Given the description of an element on the screen output the (x, y) to click on. 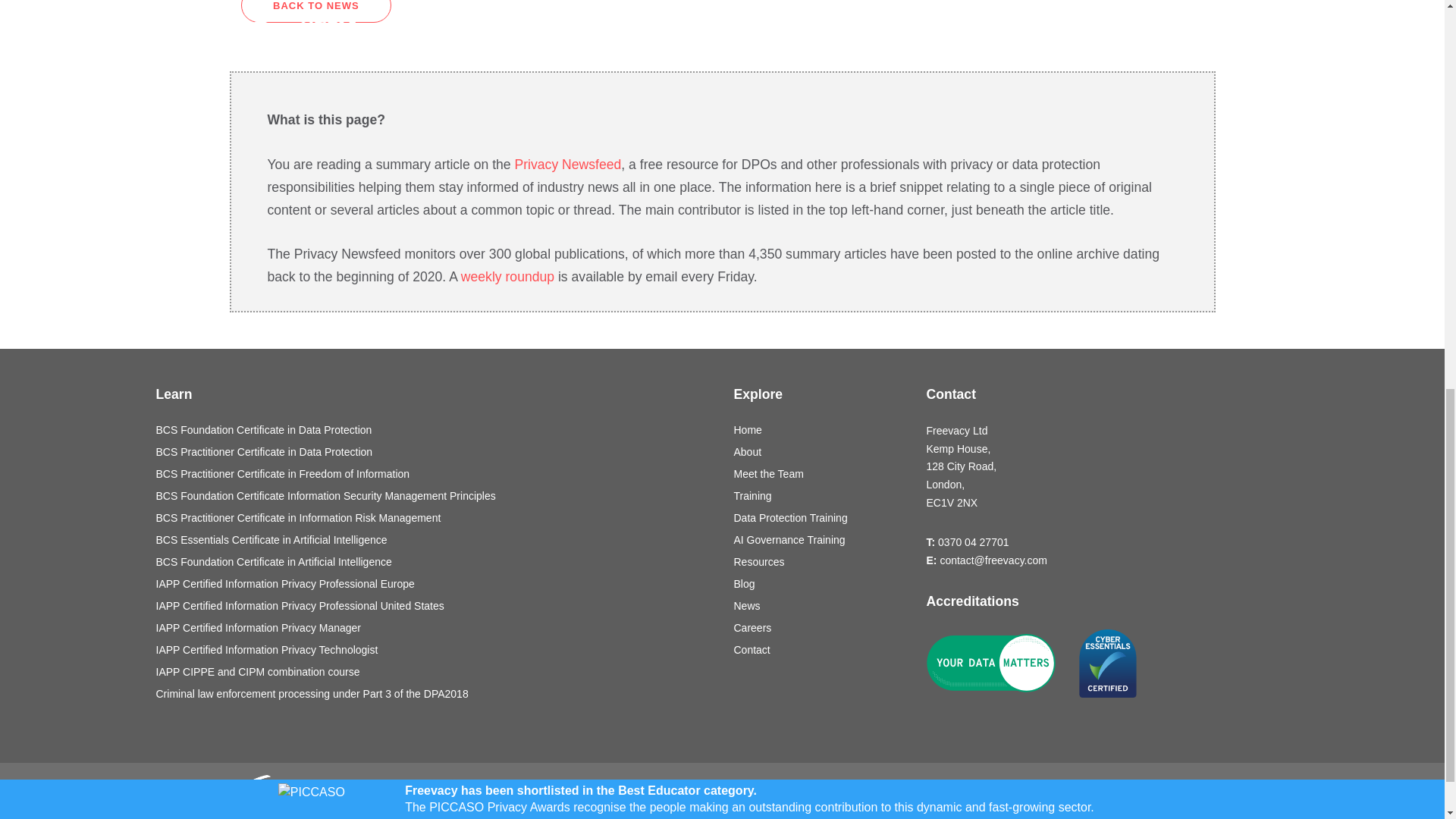
BCS Essentials Certificate in Artificial Intelligence (433, 539)
BCS Practitioner Certificate in Data Protection (433, 452)
BCS Foundation Certificate in Artificial Intelligence (433, 562)
IAPP Certified Information Privacy Manager (433, 627)
IAPP Certified Information Privacy Technologist (433, 650)
BCS Practitioner Certificate in Freedom of Information (433, 474)
BCS Practitioner Certificate in Information Risk Management (433, 518)
IAPP CIPPE and CIPM combination course (433, 672)
BACK TO NEWS (316, 11)
IAPP Certified Information Privacy Professional Europe (433, 584)
